Given the description of an element on the screen output the (x, y) to click on. 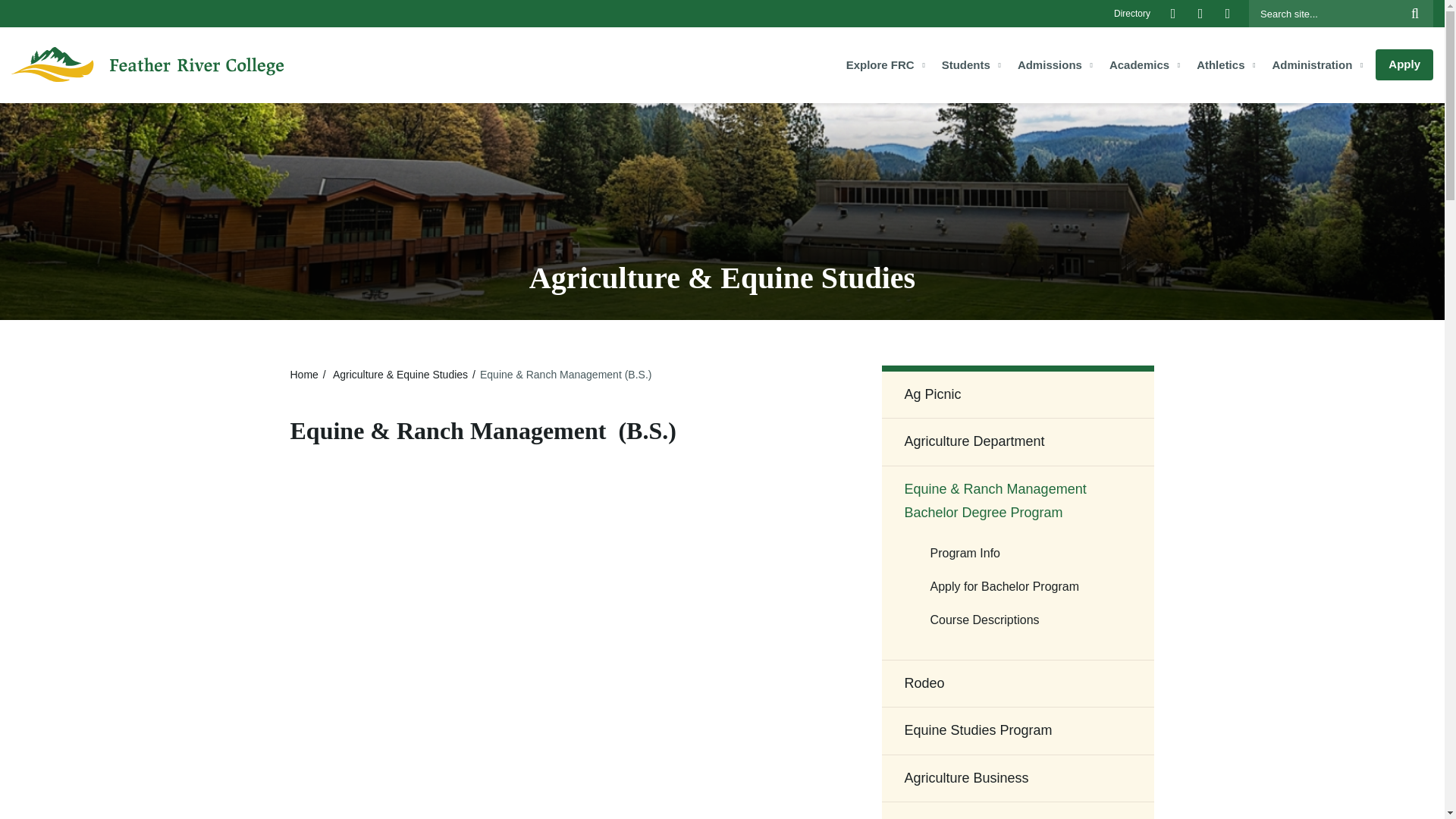
Explore FRC (886, 65)
Students (972, 65)
Search (1340, 13)
